Given the description of an element on the screen output the (x, y) to click on. 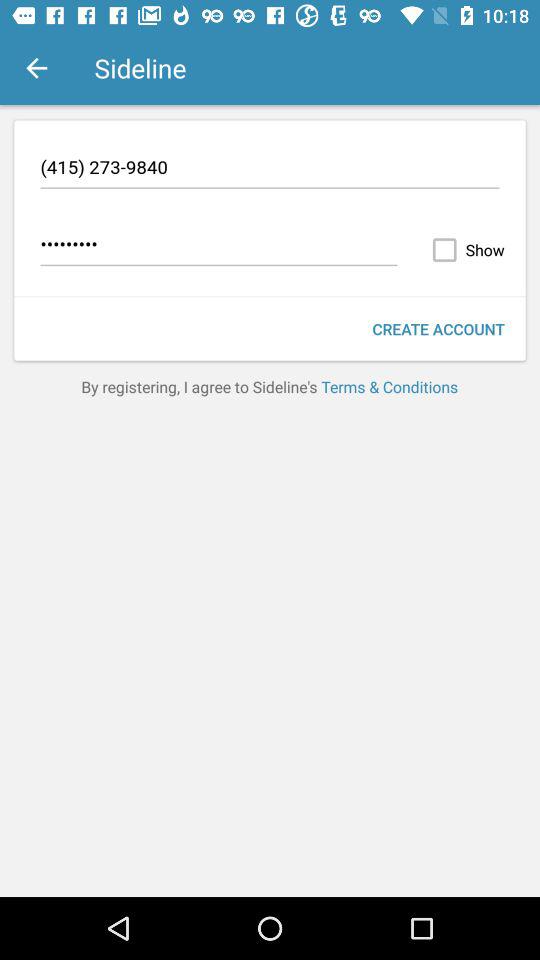
click icon to the left of the show icon (218, 247)
